Given the description of an element on the screen output the (x, y) to click on. 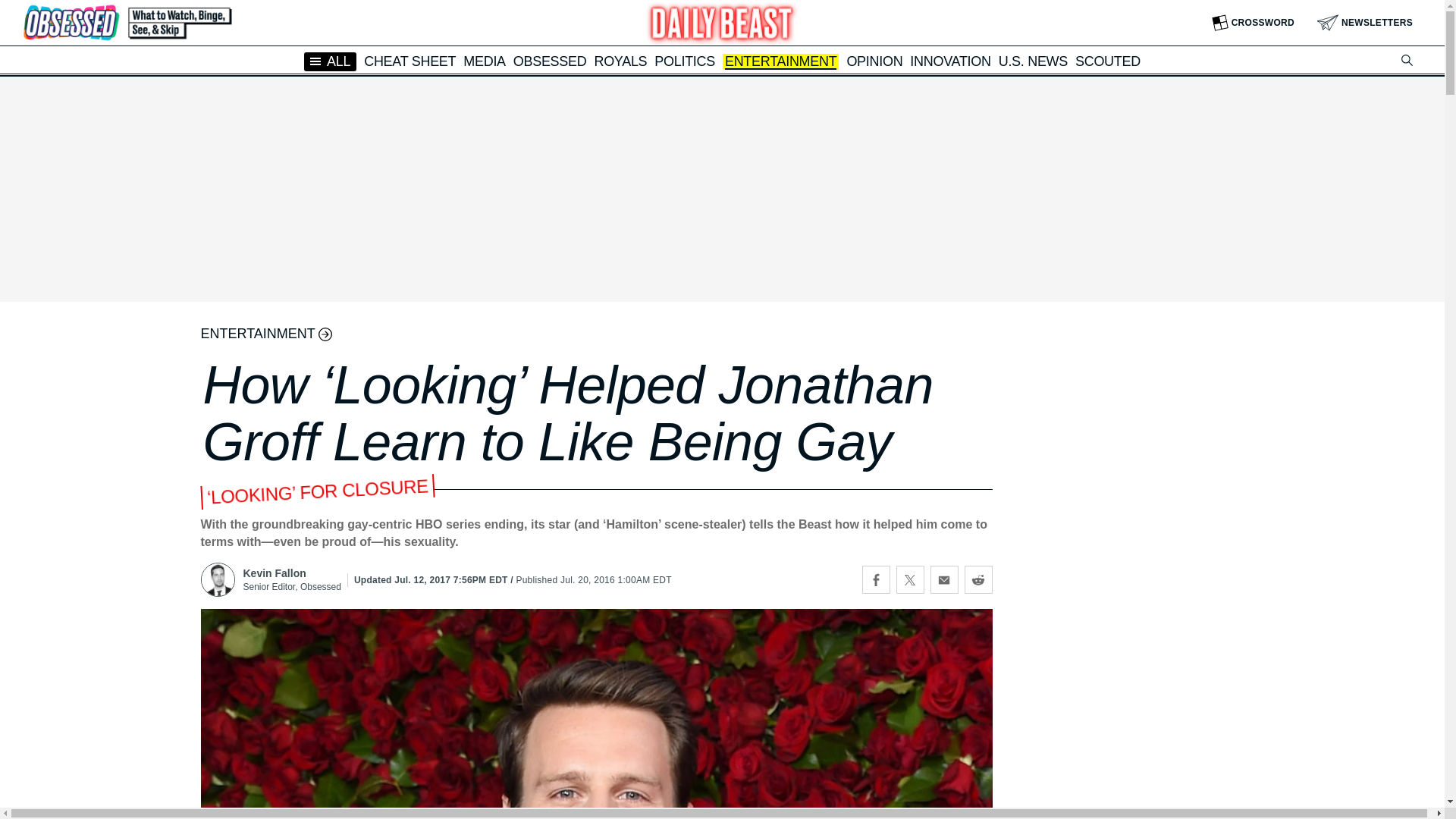
POLITICS (683, 60)
INNOVATION (950, 60)
SCOUTED (1107, 60)
ALL (330, 60)
MEDIA (484, 60)
ENTERTAINMENT (780, 61)
CHEAT SHEET (409, 60)
CROSSWORD (1252, 22)
U.S. NEWS (1032, 60)
NEWSLETTERS (1364, 22)
